Given the description of an element on the screen output the (x, y) to click on. 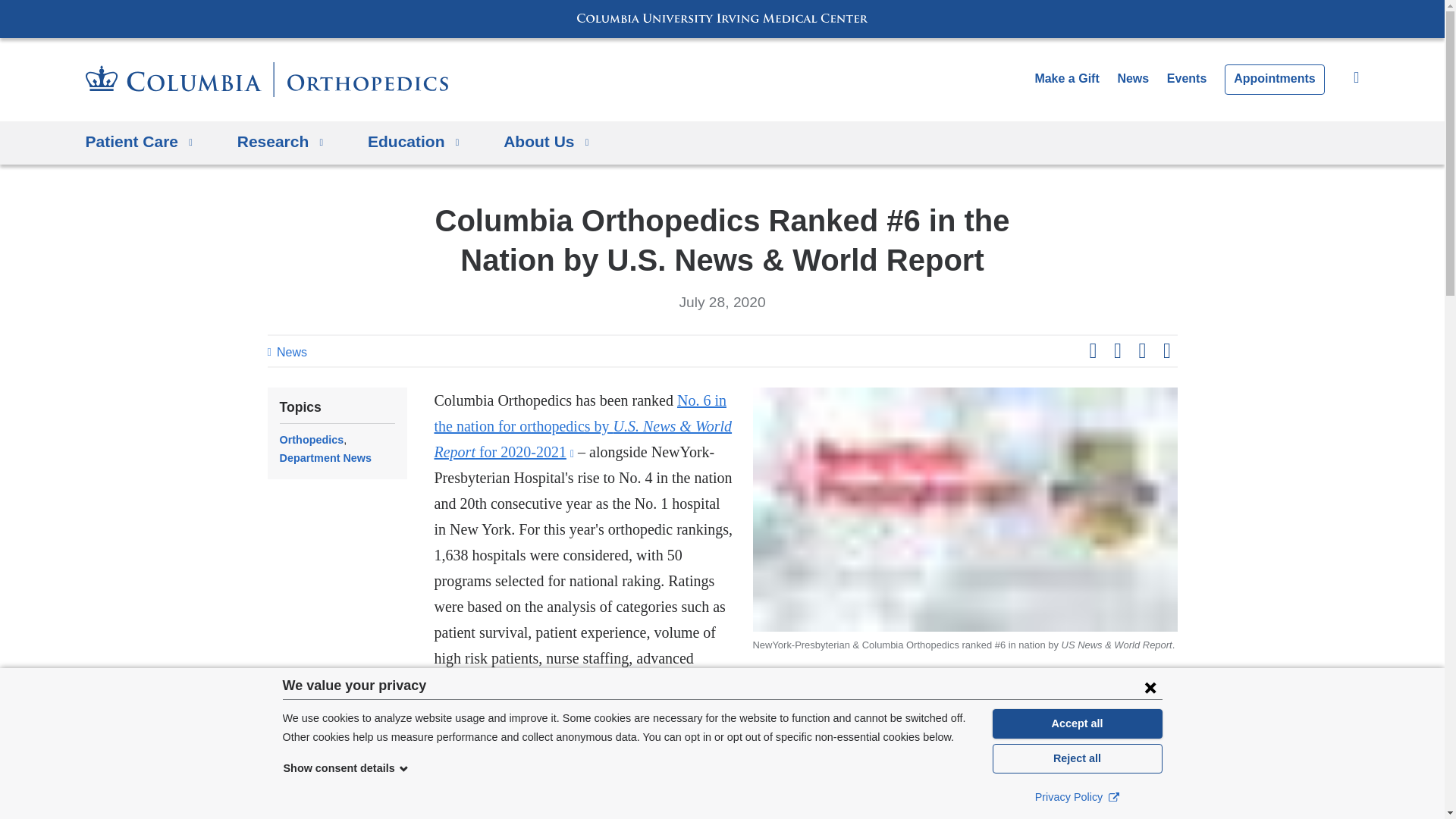
Share this page on LinkedIn. (1142, 350)
Accept all (1076, 723)
News (1132, 78)
Appointments (1274, 79)
External link Opens in a new window (1113, 796)
Share this page on Facebook (1092, 350)
Privacy Policy External link Opens in a new window (1076, 796)
Reject all (1076, 758)
Events (1187, 78)
Patient Care (138, 142)
Research (280, 142)
Show consent details (346, 768)
Share this page through email. (1166, 350)
Make a Gift (1066, 78)
